Given the description of an element on the screen output the (x, y) to click on. 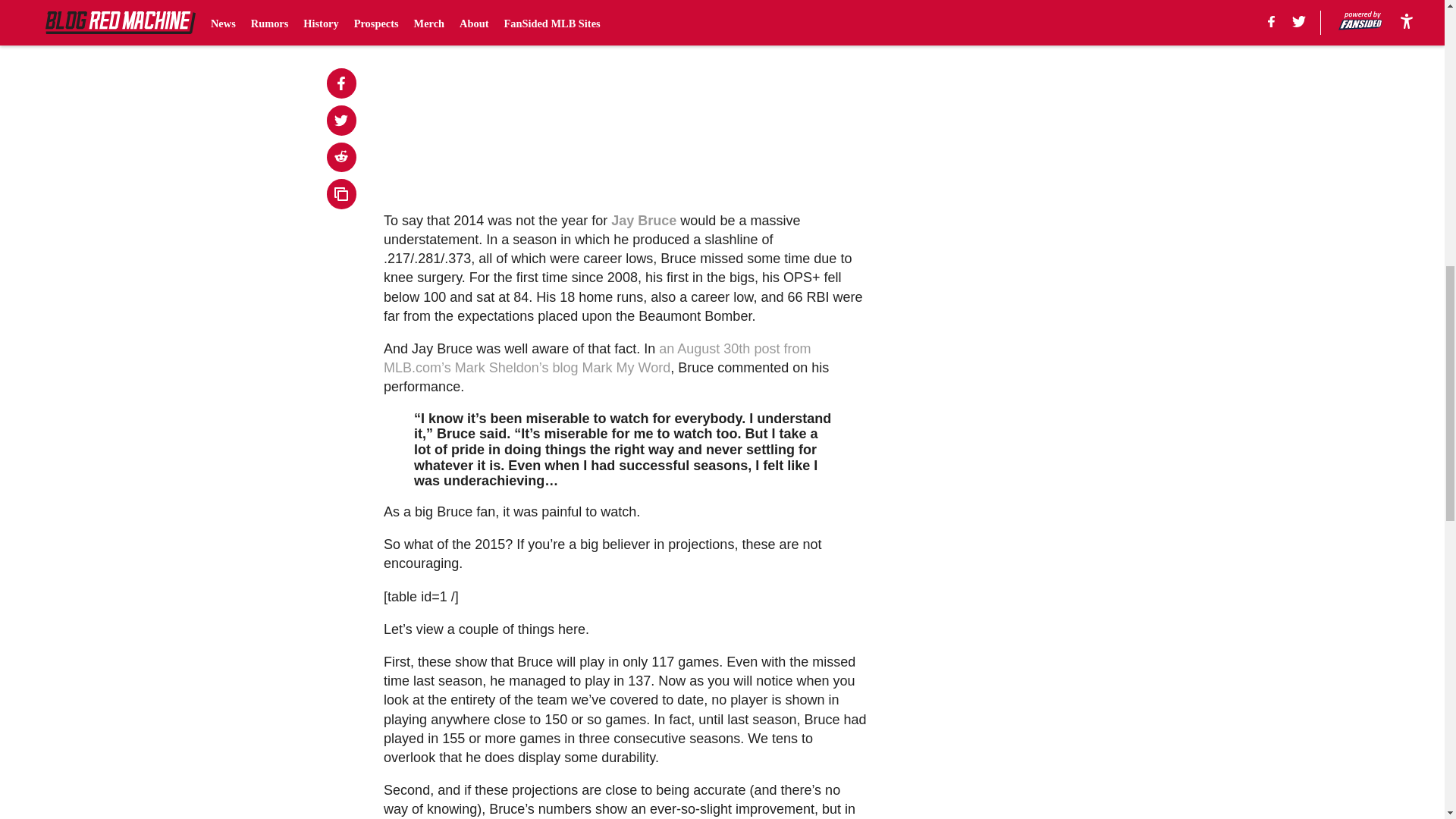
Jay Bruce (644, 220)
